Given the description of an element on the screen output the (x, y) to click on. 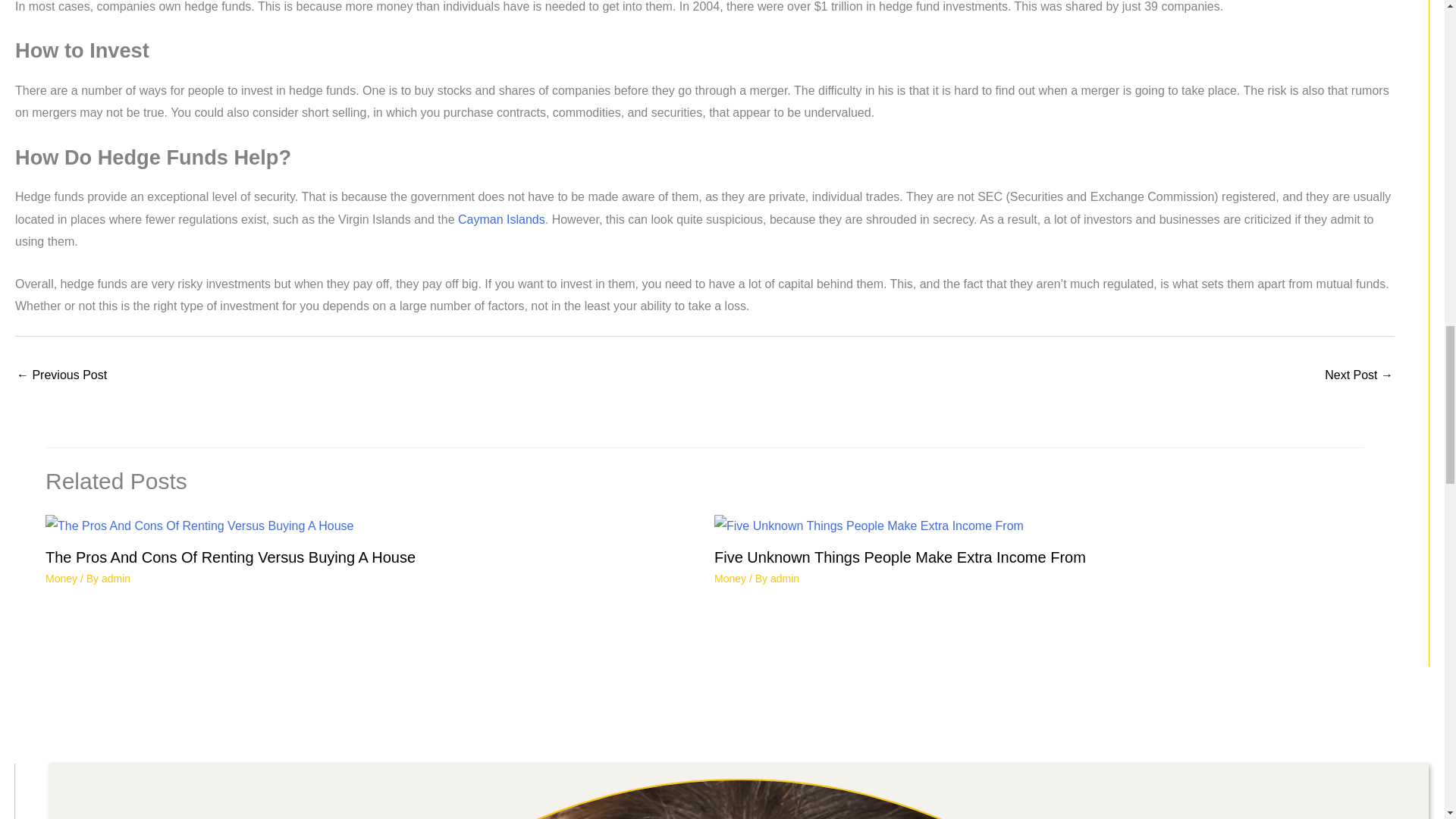
admin (784, 578)
Money (729, 578)
The Pros And Cons Of Renting Versus Buying A House (229, 556)
admin (116, 578)
View all posts by admin (116, 578)
Money (61, 578)
Cayman Islands (501, 219)
View all posts by admin (784, 578)
Five Unknown Things People Make Extra Income From (900, 556)
